Given the description of an element on the screen output the (x, y) to click on. 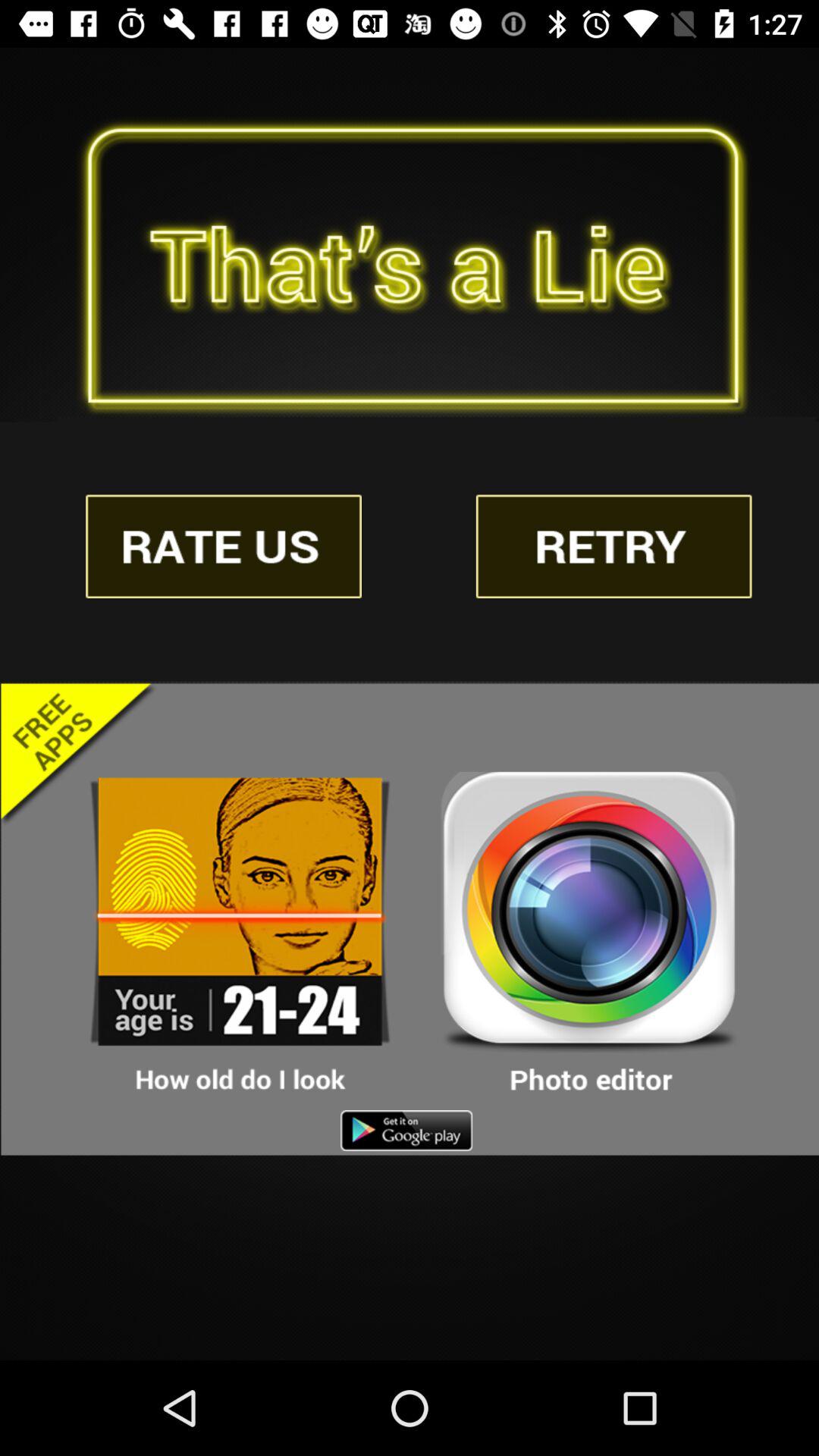
rate app (223, 546)
